Given the description of an element on the screen output the (x, y) to click on. 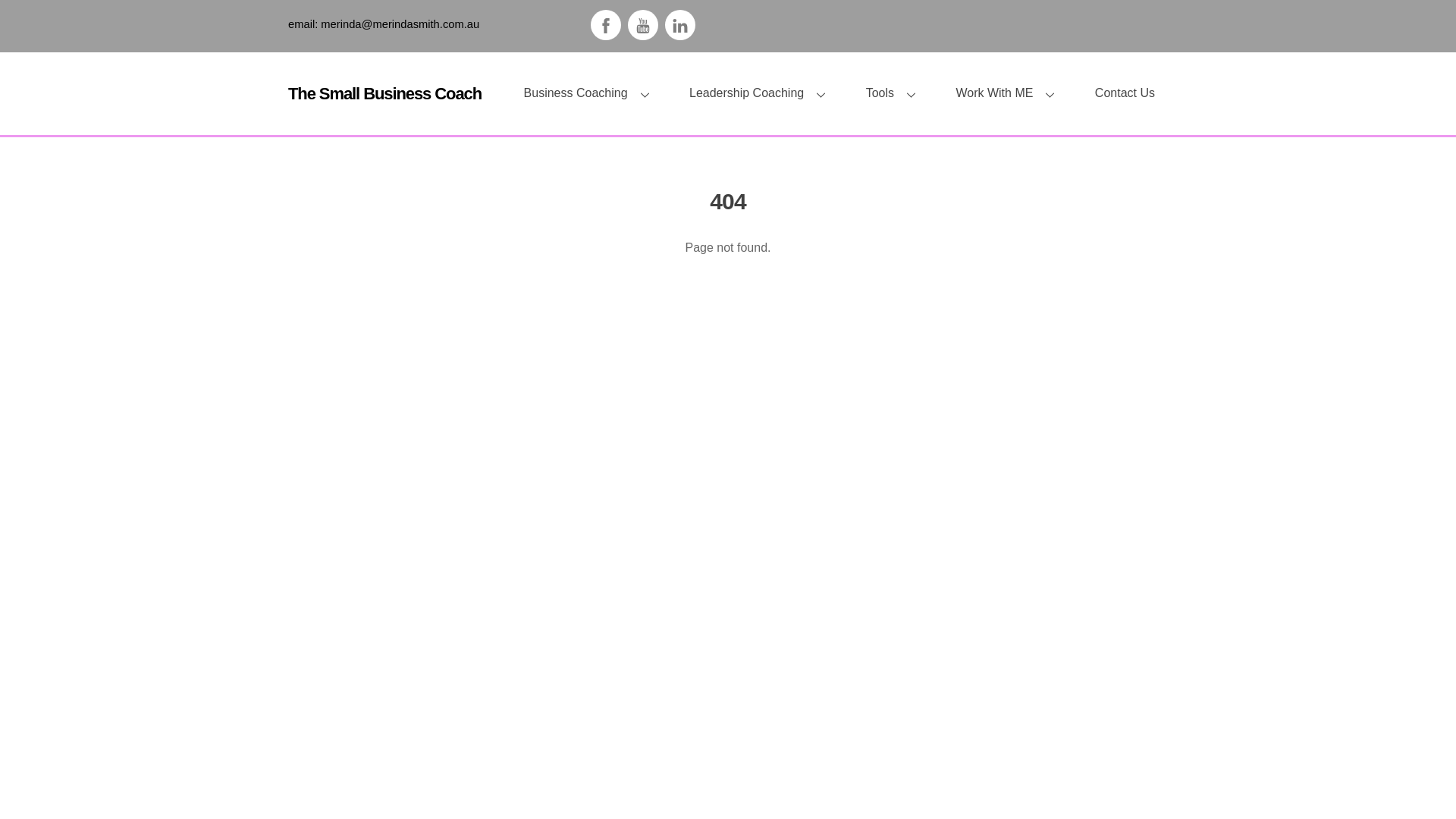
Tools Element type: text (896, 92)
Contact Us Element type: text (1124, 92)
Work With ME Element type: text (1009, 92)
Leadership Coaching Element type: text (762, 92)
Business Coaching Element type: text (592, 92)
The Small Business Coach Element type: text (384, 93)
